Given the description of an element on the screen output the (x, y) to click on. 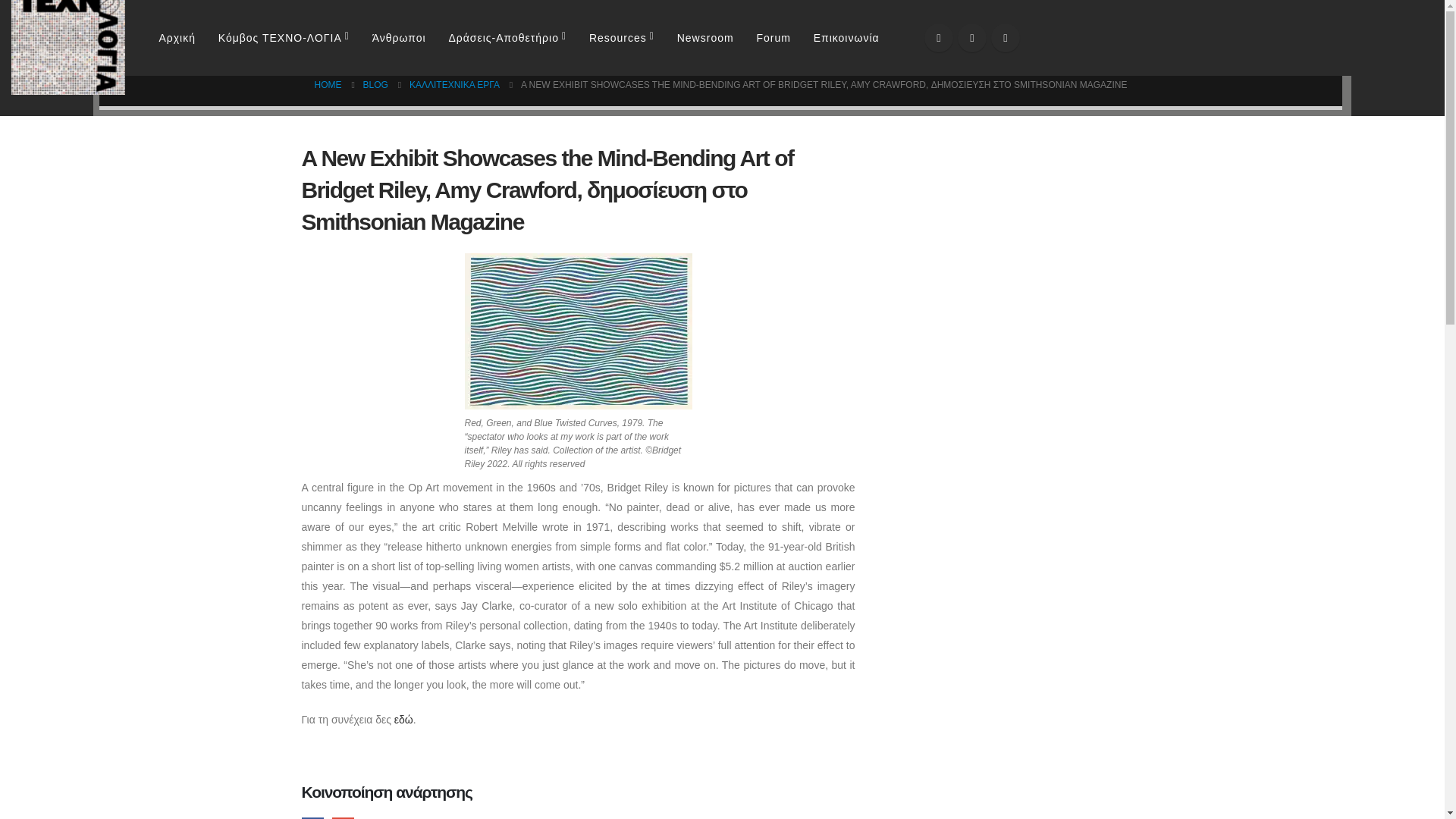
Youtube (972, 37)
Go to Home Page (328, 85)
Facebook (938, 37)
Resources (621, 38)
Newsroom (704, 38)
Instagram (1005, 37)
